Given the description of an element on the screen output the (x, y) to click on. 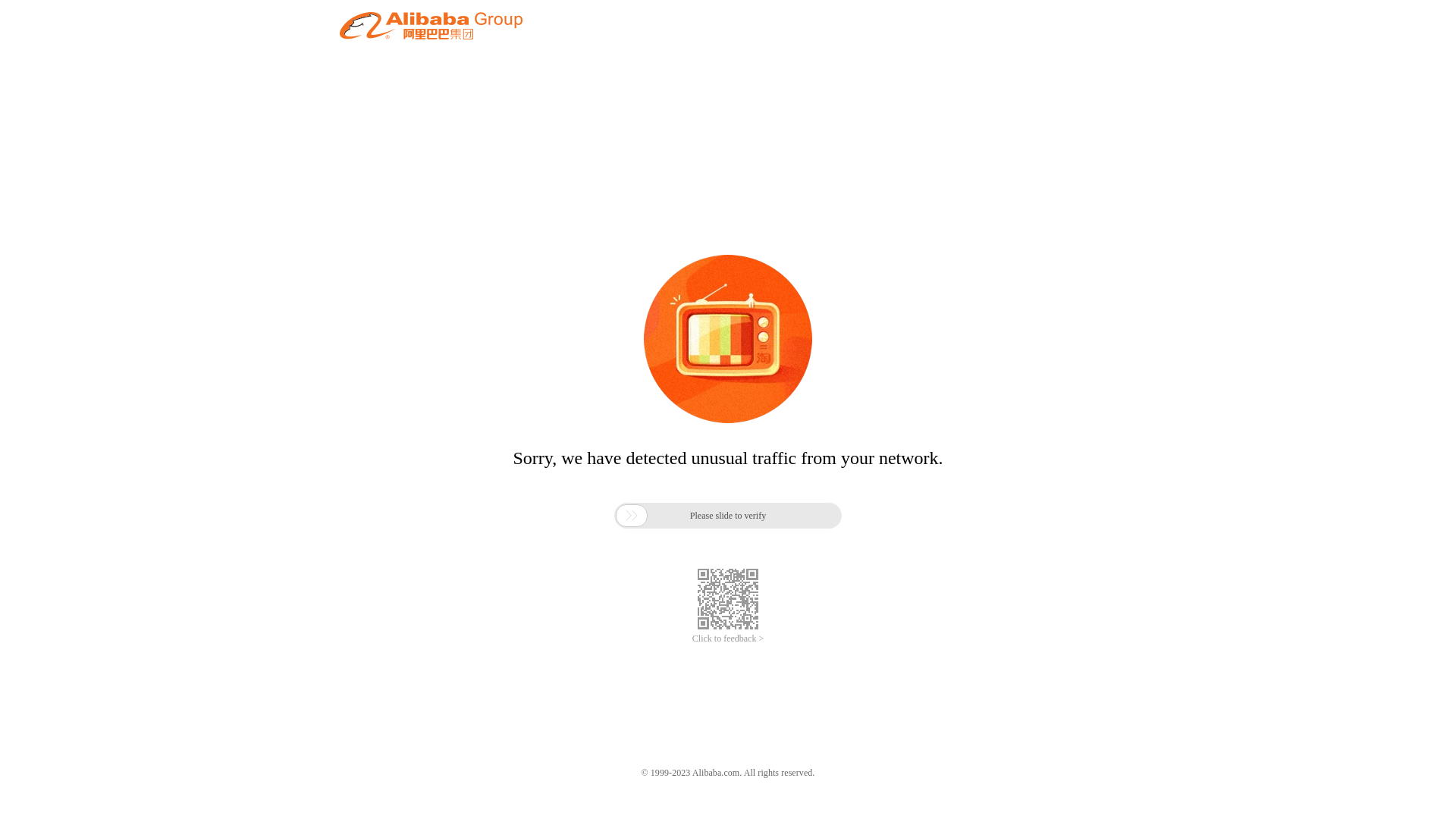
Click to feedback > Element type: text (727, 638)
